Given the description of an element on the screen output the (x, y) to click on. 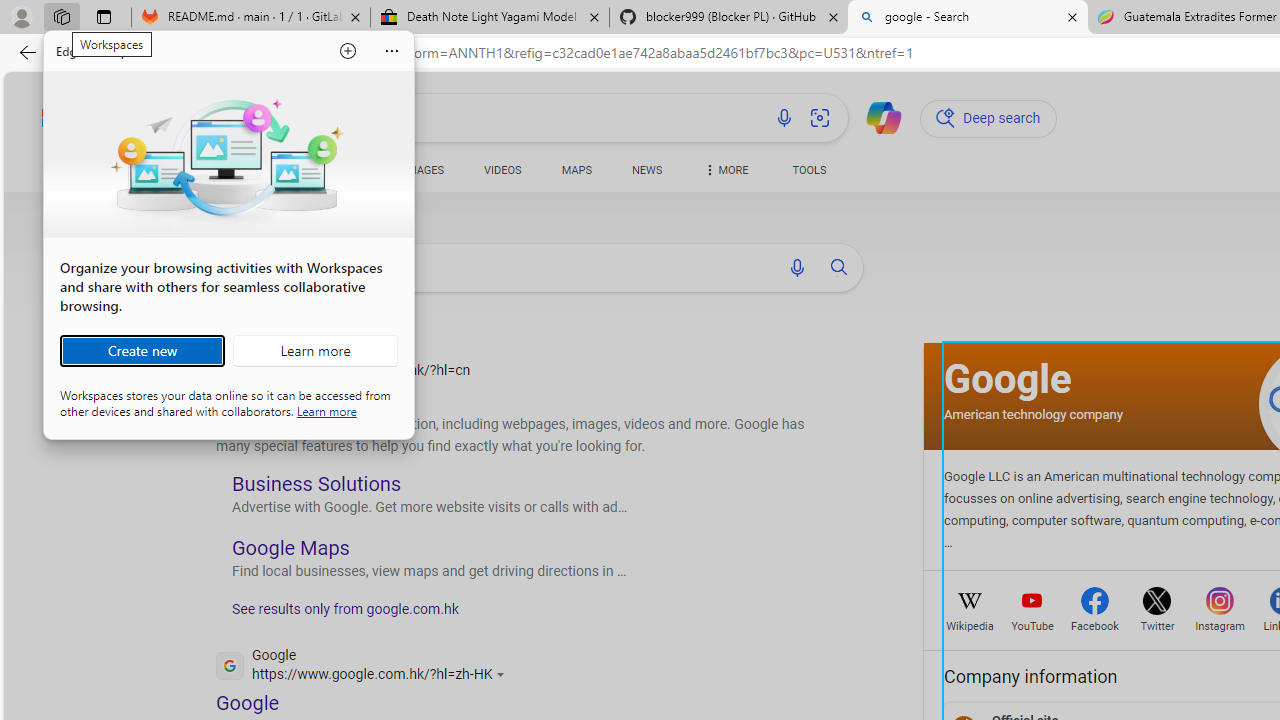
Learn more about Workspaces privacy (326, 410)
Learn more about Workspaces (315, 350)
Create new workspace (142, 350)
